Given the description of an element on the screen output the (x, y) to click on. 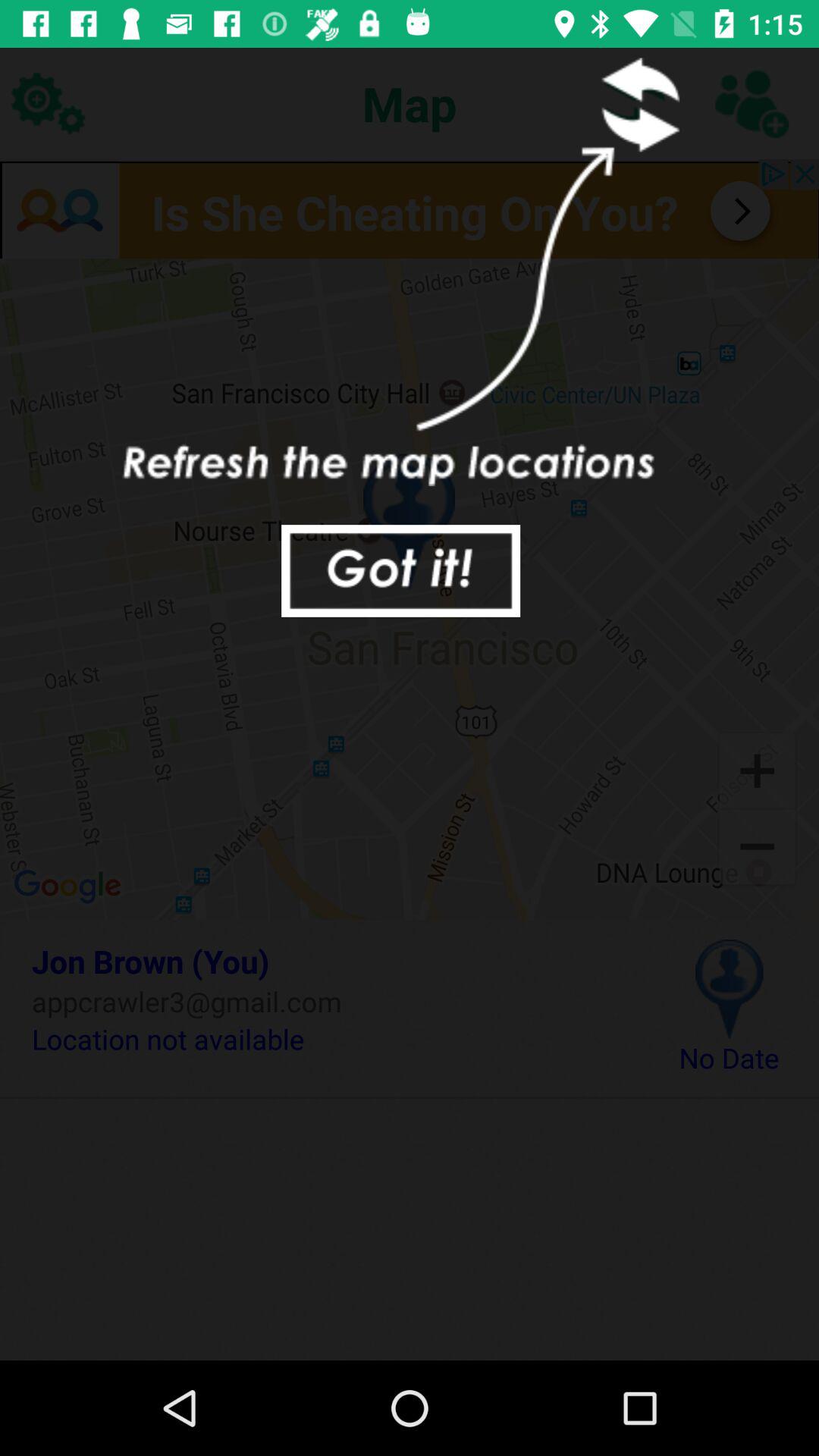
refresh map locations (635, 103)
